Given the description of an element on the screen output the (x, y) to click on. 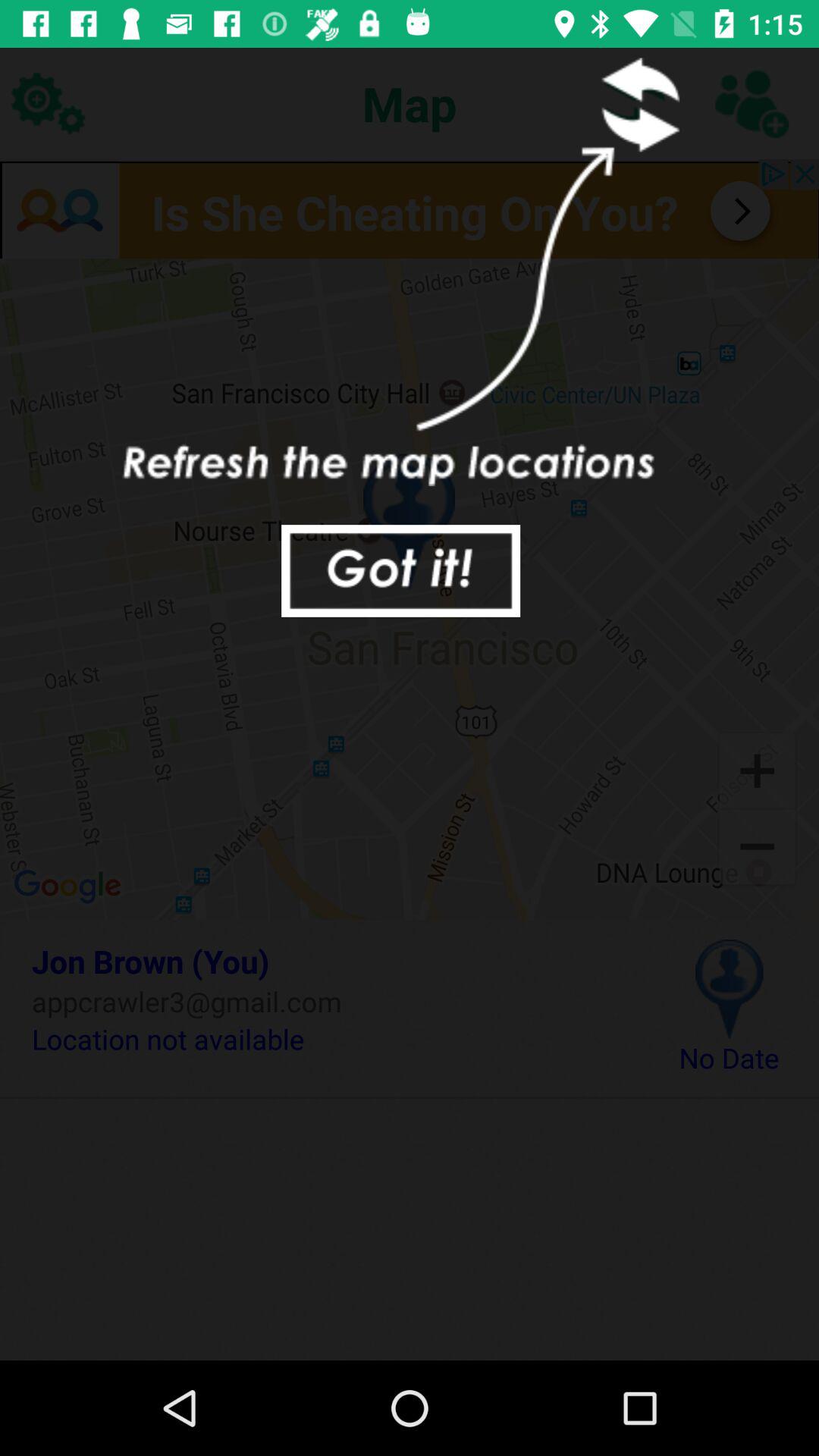
refresh map locations (635, 103)
